Given the description of an element on the screen output the (x, y) to click on. 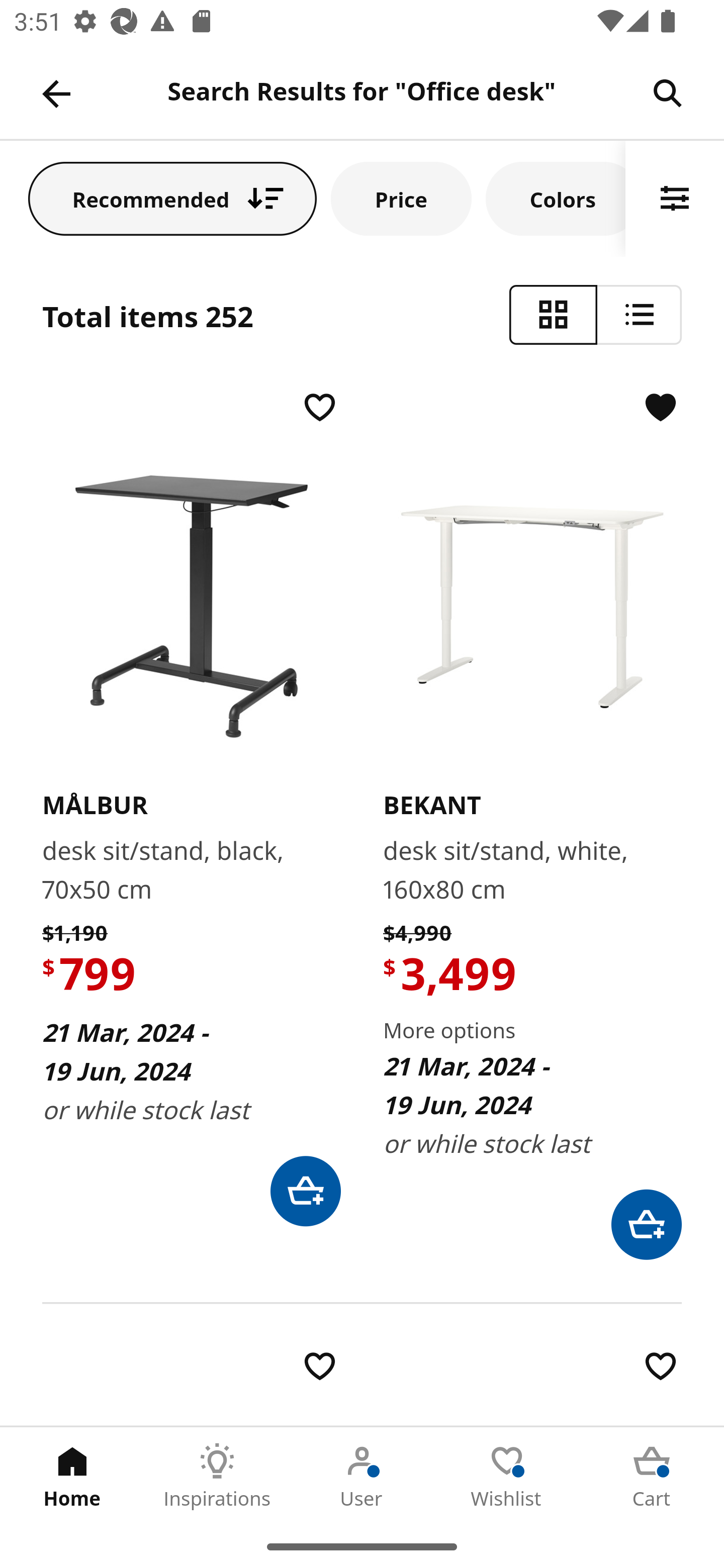
Recommended (172, 198)
Price (400, 198)
Colors (555, 198)
Home
Tab 1 of 5 (72, 1476)
Inspirations
Tab 2 of 5 (216, 1476)
User
Tab 3 of 5 (361, 1476)
Wishlist
Tab 4 of 5 (506, 1476)
Cart
Tab 5 of 5 (651, 1476)
